Given the description of an element on the screen output the (x, y) to click on. 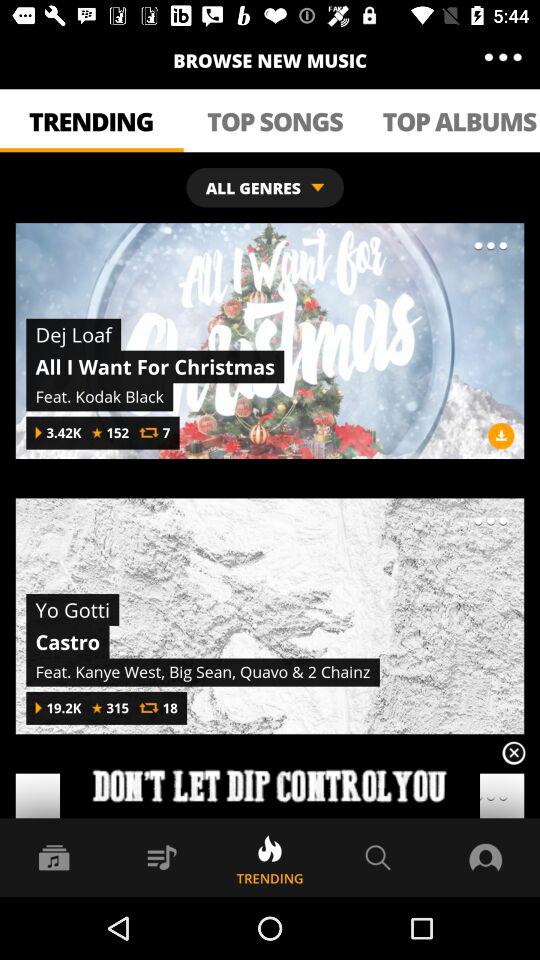
choose item to the right of the feat. kodak black (501, 435)
